Given the description of an element on the screen output the (x, y) to click on. 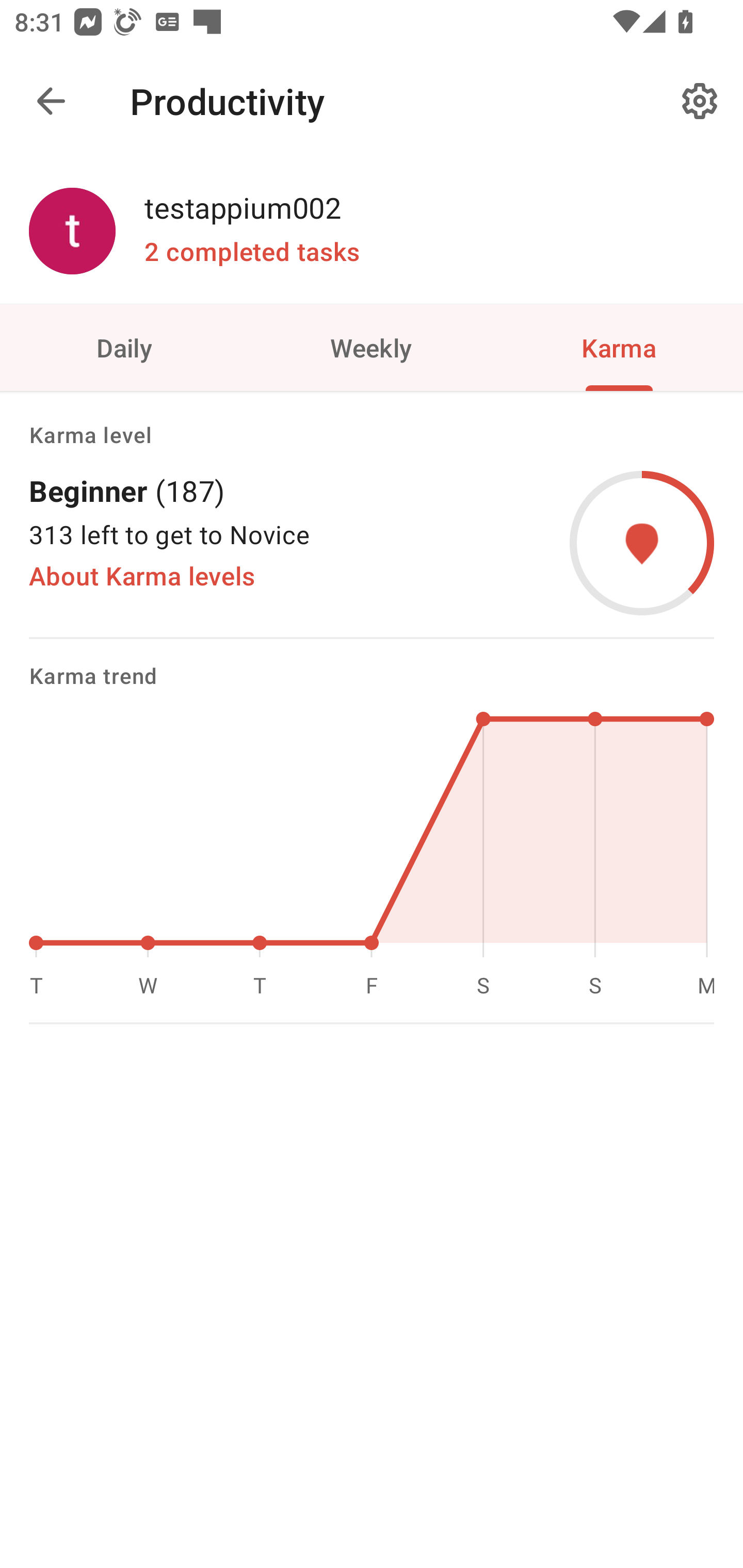
Navigate up (50, 101)
Settings (699, 101)
2 completed tasks (252, 251)
Daily (123, 347)
Weekly (371, 347)
About Karma levels (141, 575)
